Given the description of an element on the screen output the (x, y) to click on. 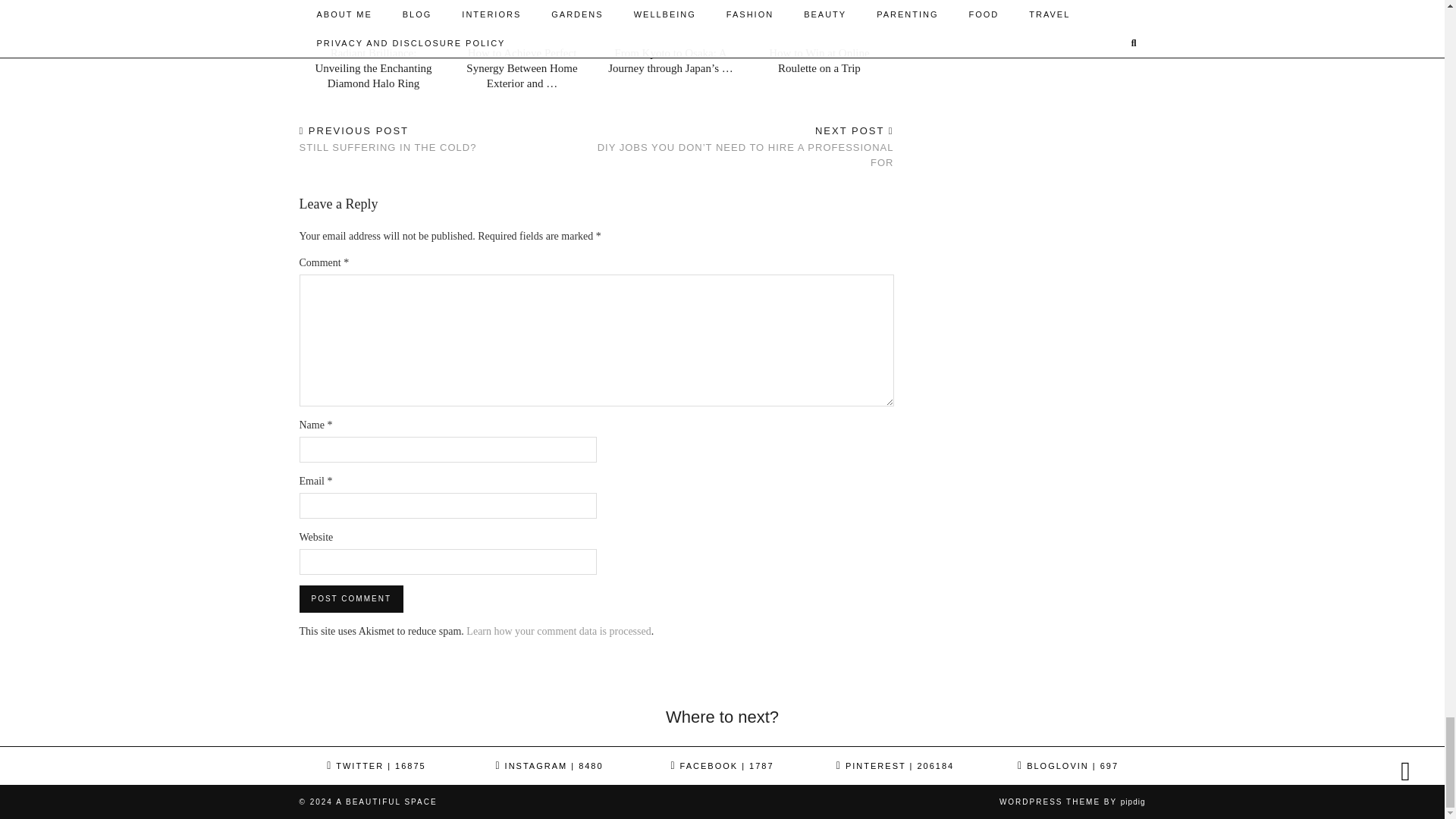
How to Win at Online Roulette on a Trip (818, 20)
Post Comment (387, 140)
Learn how your comment data is processed (350, 598)
How to Win at Online Roulette on a Trip (557, 631)
How to Win at Online Roulette on a Trip (818, 60)
